Given the description of an element on the screen output the (x, y) to click on. 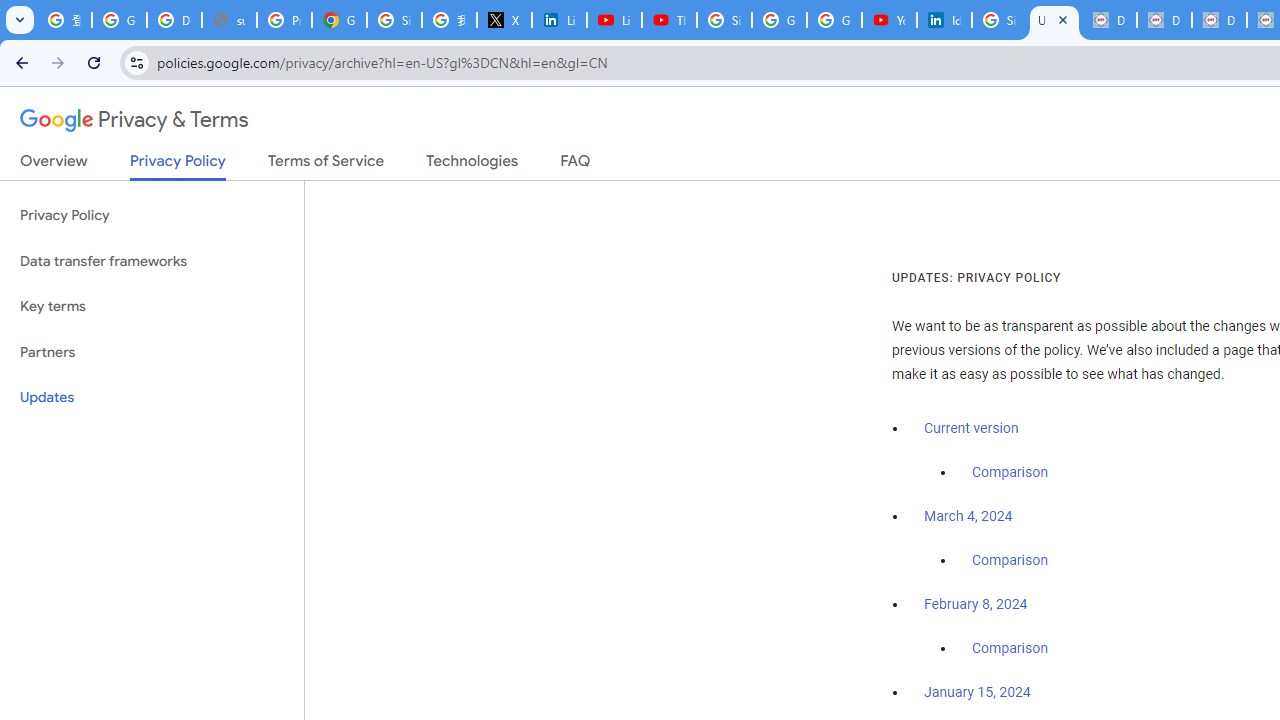
Sign in - Google Accounts (998, 20)
LinkedIn Privacy Policy (559, 20)
support.google.com - Network error (229, 20)
LinkedIn - YouTube (614, 20)
FAQ (575, 165)
Privacy Policy (152, 215)
Privacy Help Center - Policies Help (284, 20)
Overview (54, 165)
Current version (971, 428)
Identity verification via Persona | LinkedIn Help (943, 20)
